Given the description of an element on the screen output the (x, y) to click on. 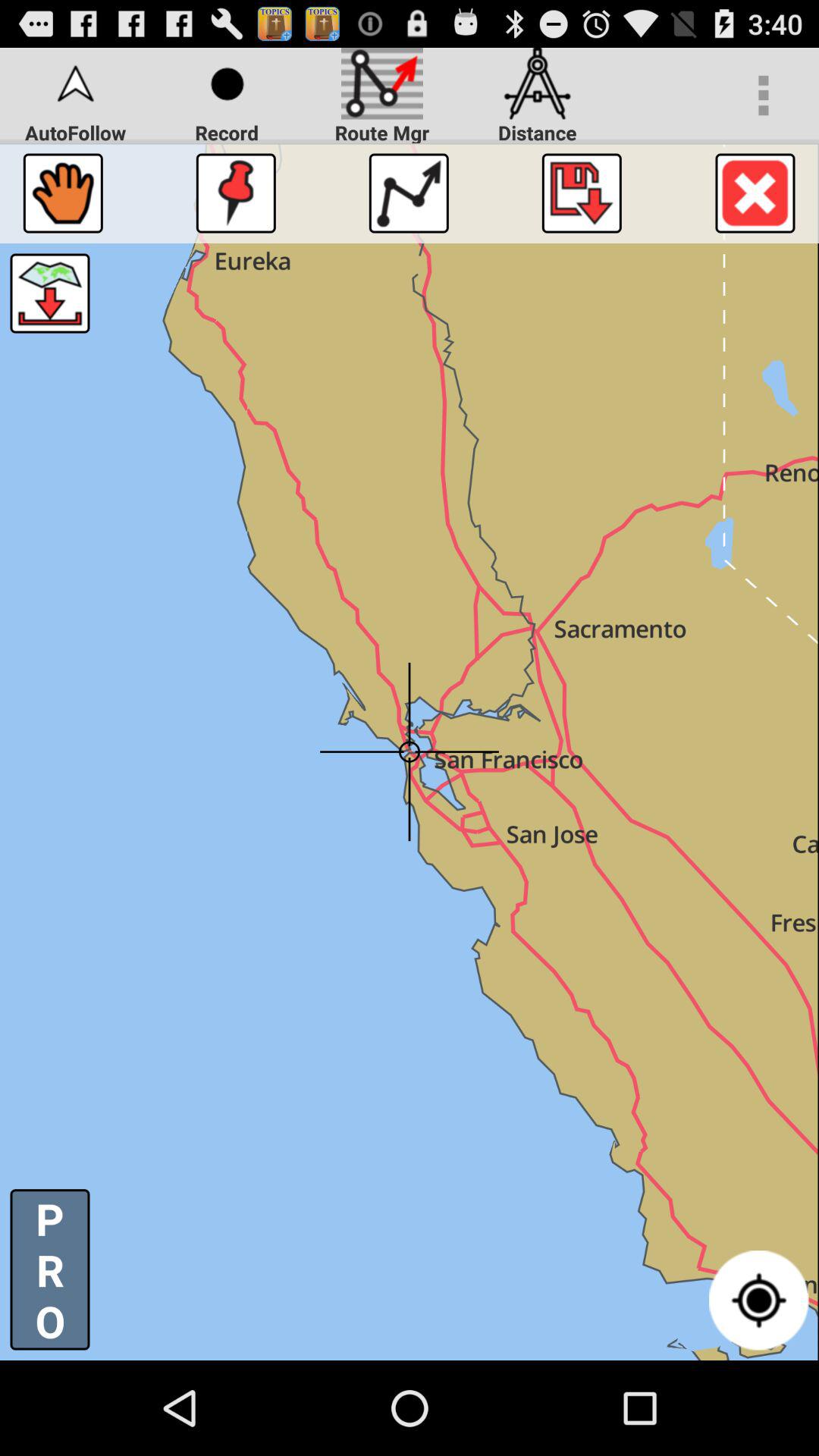
click the icon below the record item (235, 193)
